Given the description of an element on the screen output the (x, y) to click on. 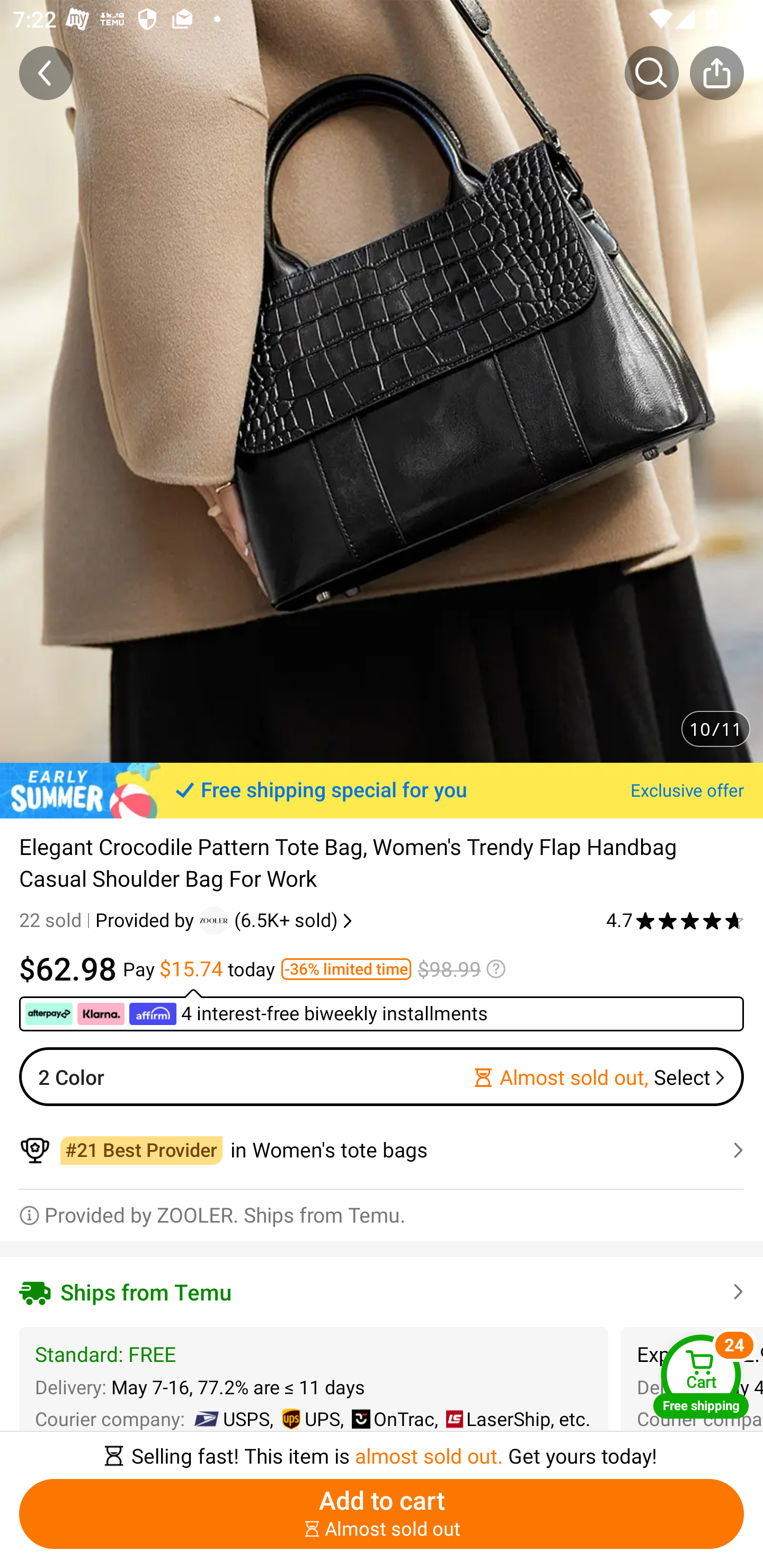
Back (46, 72)
Share (716, 72)
Free shipping special for you Exclusive offer (381, 790)
22 sold Provided by  (109, 920)
4.7 (674, 920)
￼ ￼ ￼ 4 interest-free biweekly installments (381, 1009)
2 Color   Almost sold out, Select (381, 1076)
￼￼in Women's tote bags (381, 1149)
Ships from Temu (381, 1291)
Cart Free shipping Cart (701, 1375)
Add to cart ￼￼Almost sold out (381, 1513)
